Given the description of an element on the screen output the (x, y) to click on. 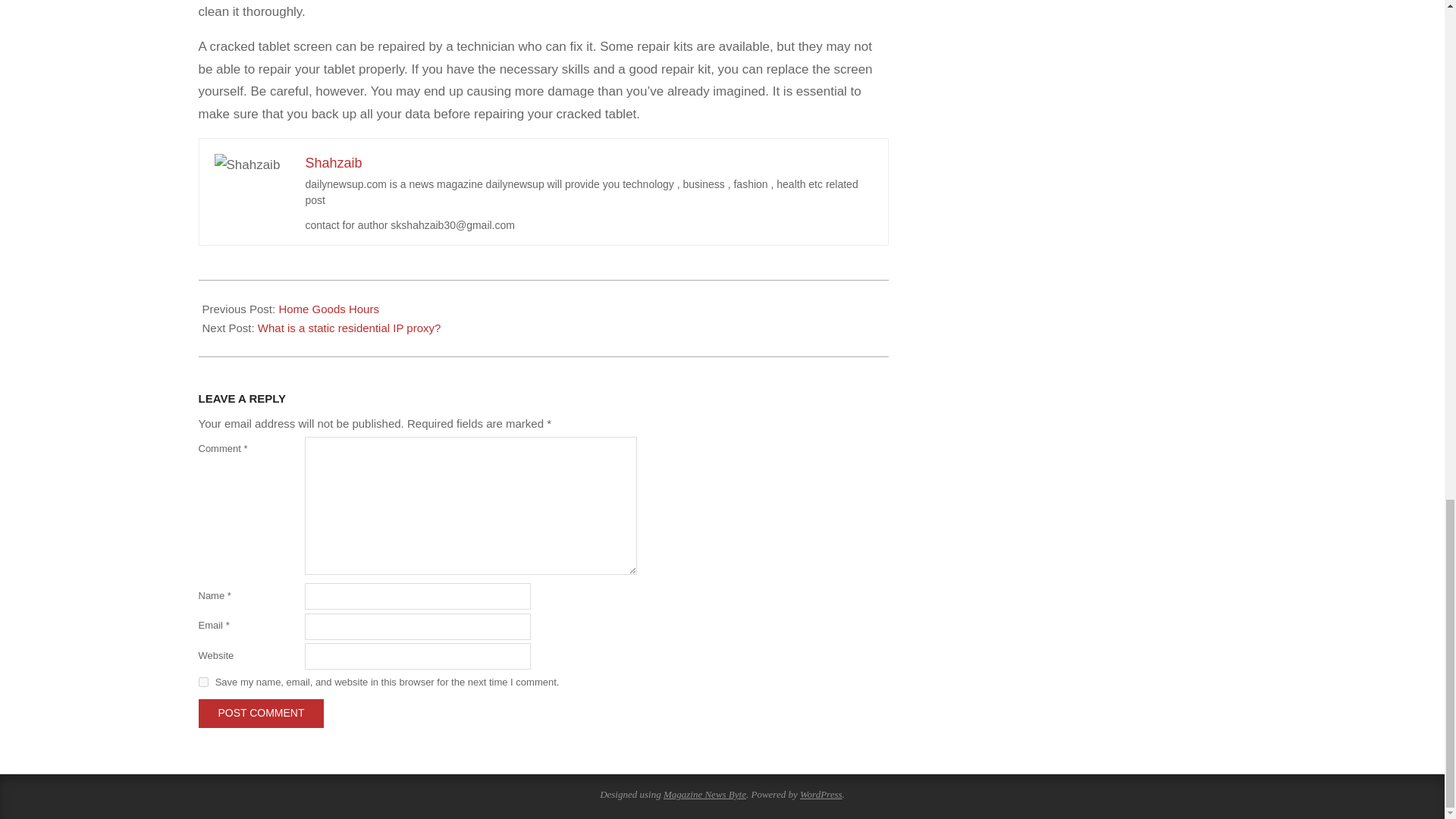
Post Comment (261, 713)
Shahzaib (332, 162)
WordPress (821, 794)
Magazine News Byte WordPress Theme (704, 794)
Post Comment (261, 713)
Magazine News Byte (704, 794)
Home Goods Hours (328, 308)
What is a static residential IP proxy? (349, 327)
yes (203, 682)
